Given the description of an element on the screen output the (x, y) to click on. 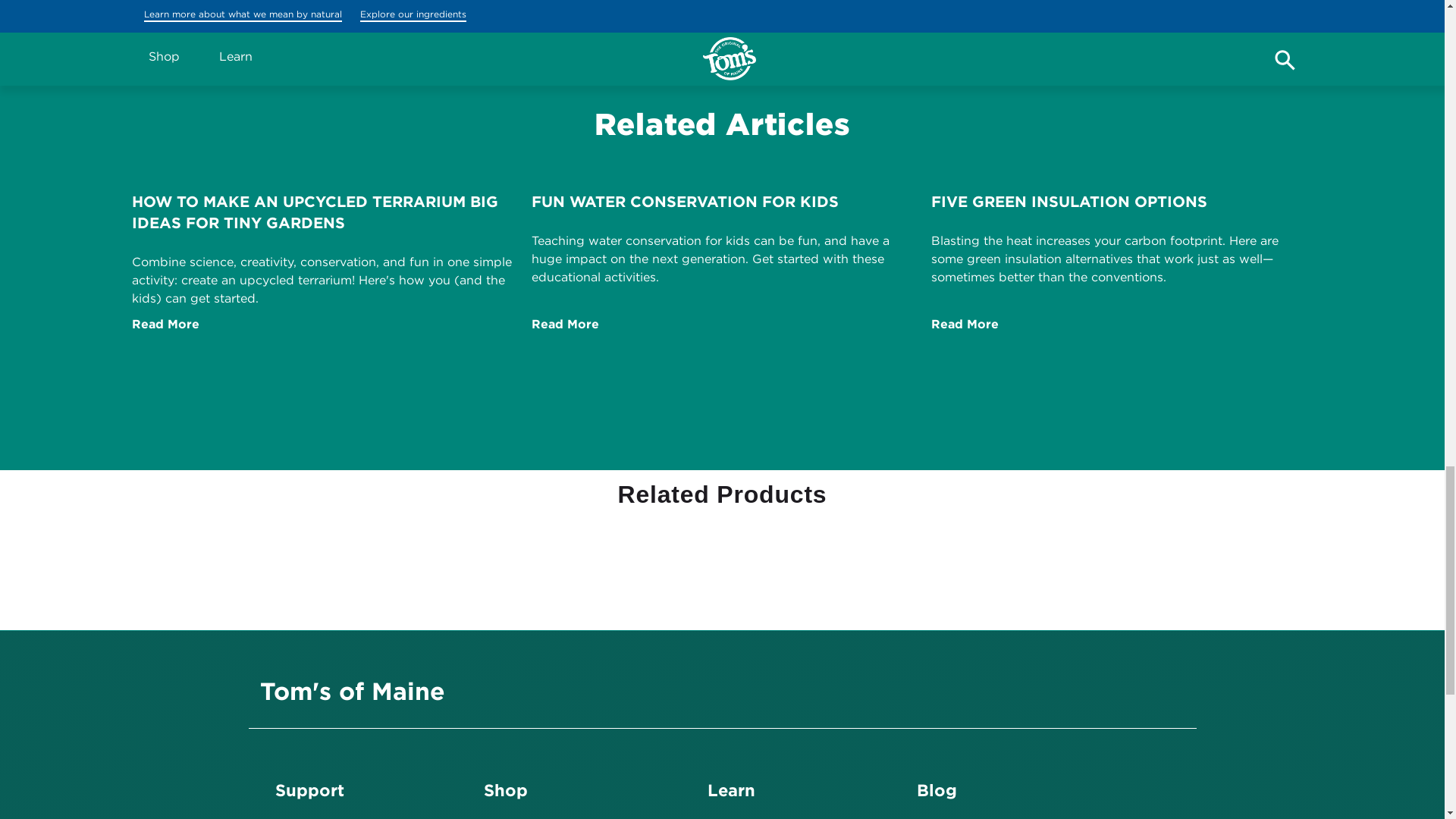
How to Make an Upcycled Terrarium Big Ideas for Tiny Gardens (165, 324)
Fun Water Conservation for Kids (564, 324)
Five Green Insulation Options (964, 324)
